Given the description of an element on the screen output the (x, y) to click on. 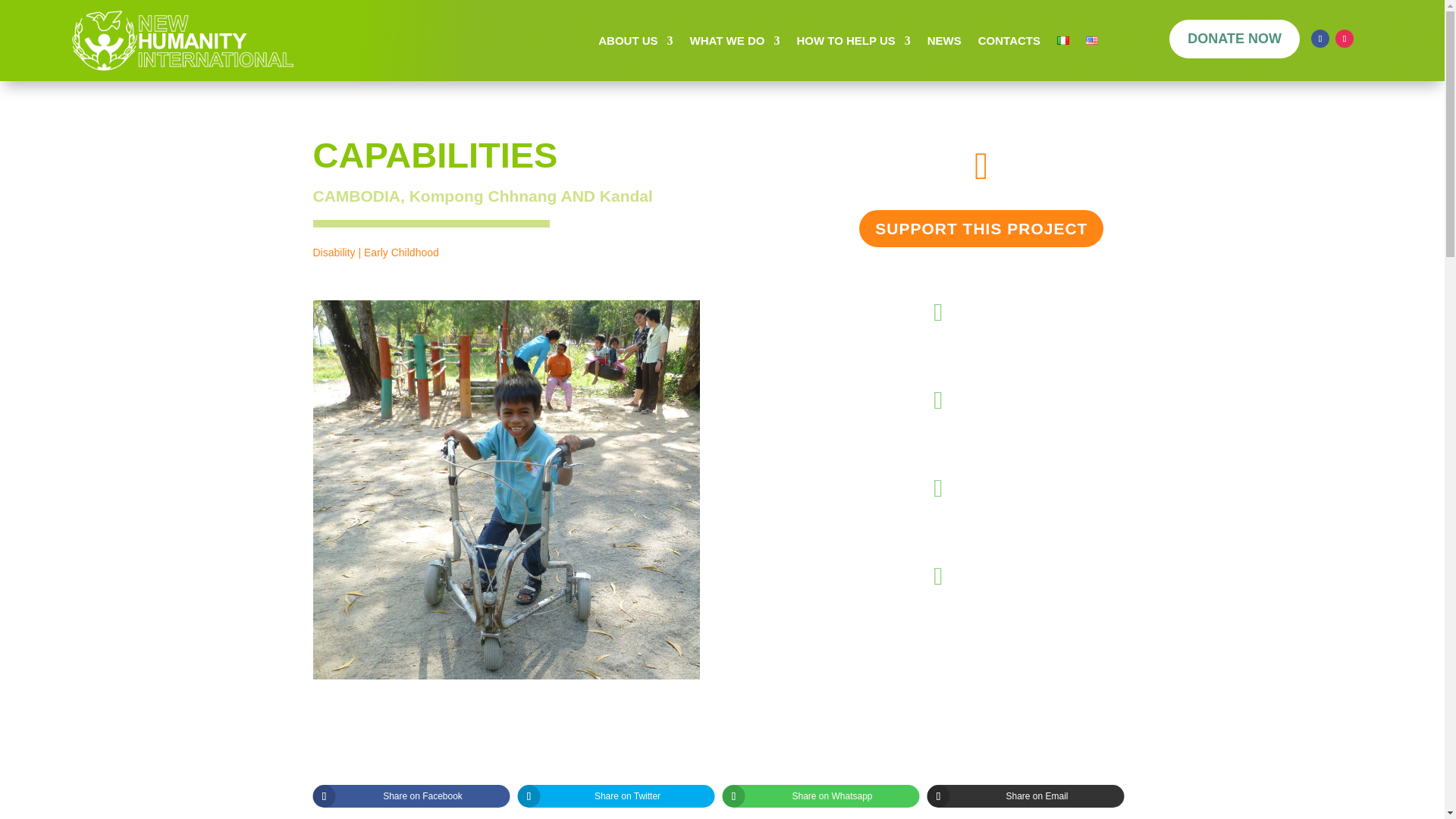
CONTACTS (1009, 44)
WHAT WE DO (735, 44)
Follow on Facebook (1320, 38)
Follow on Instagram (1344, 38)
NEWS (943, 44)
Early Childhood (401, 252)
Disability (334, 252)
ABOUT US (635, 44)
HOW TO HELP US (853, 44)
DONATE NOW (1234, 41)
